Given the description of an element on the screen output the (x, y) to click on. 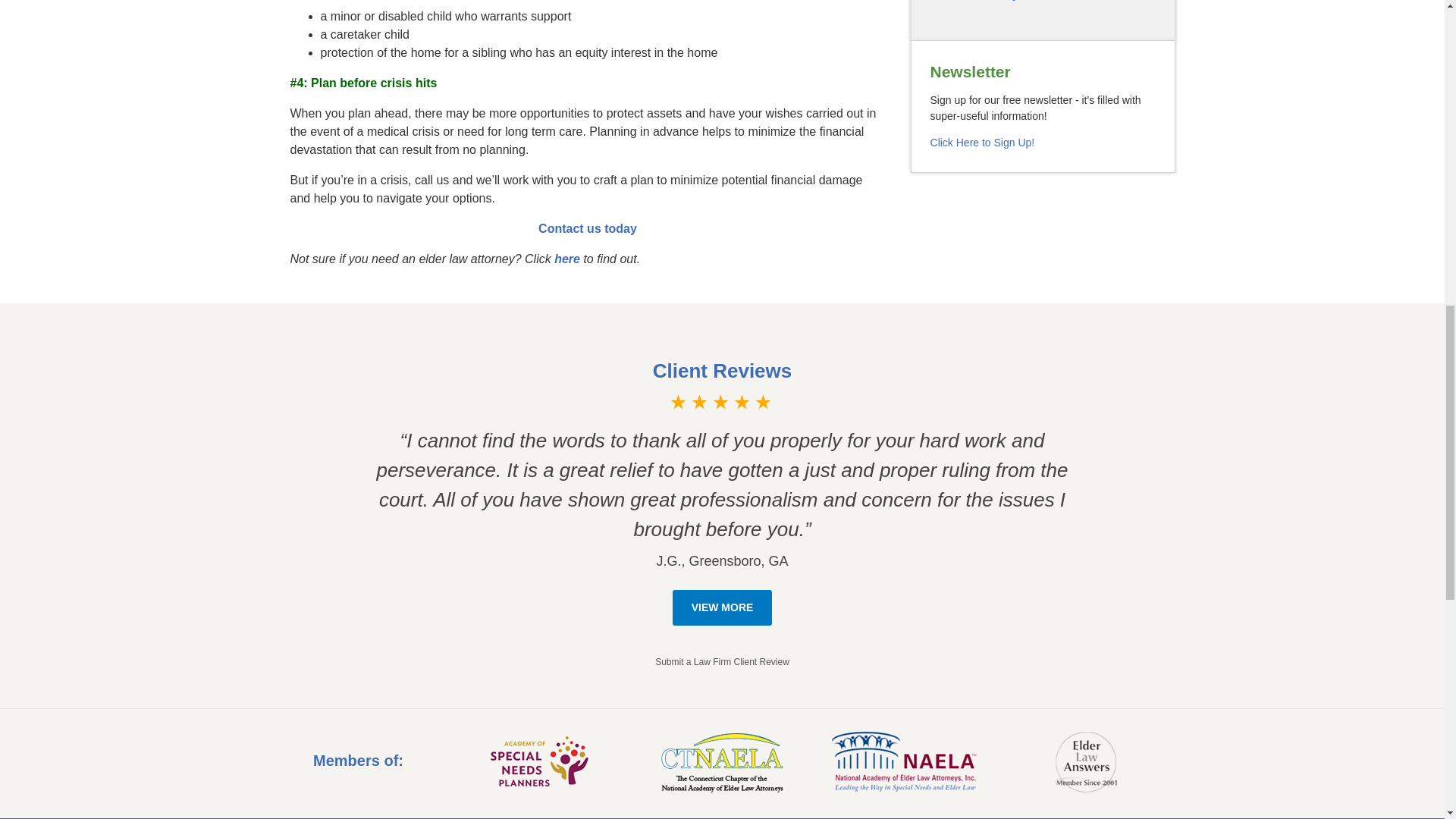
here (568, 258)
Contact us today (587, 228)
